Given the description of an element on the screen output the (x, y) to click on. 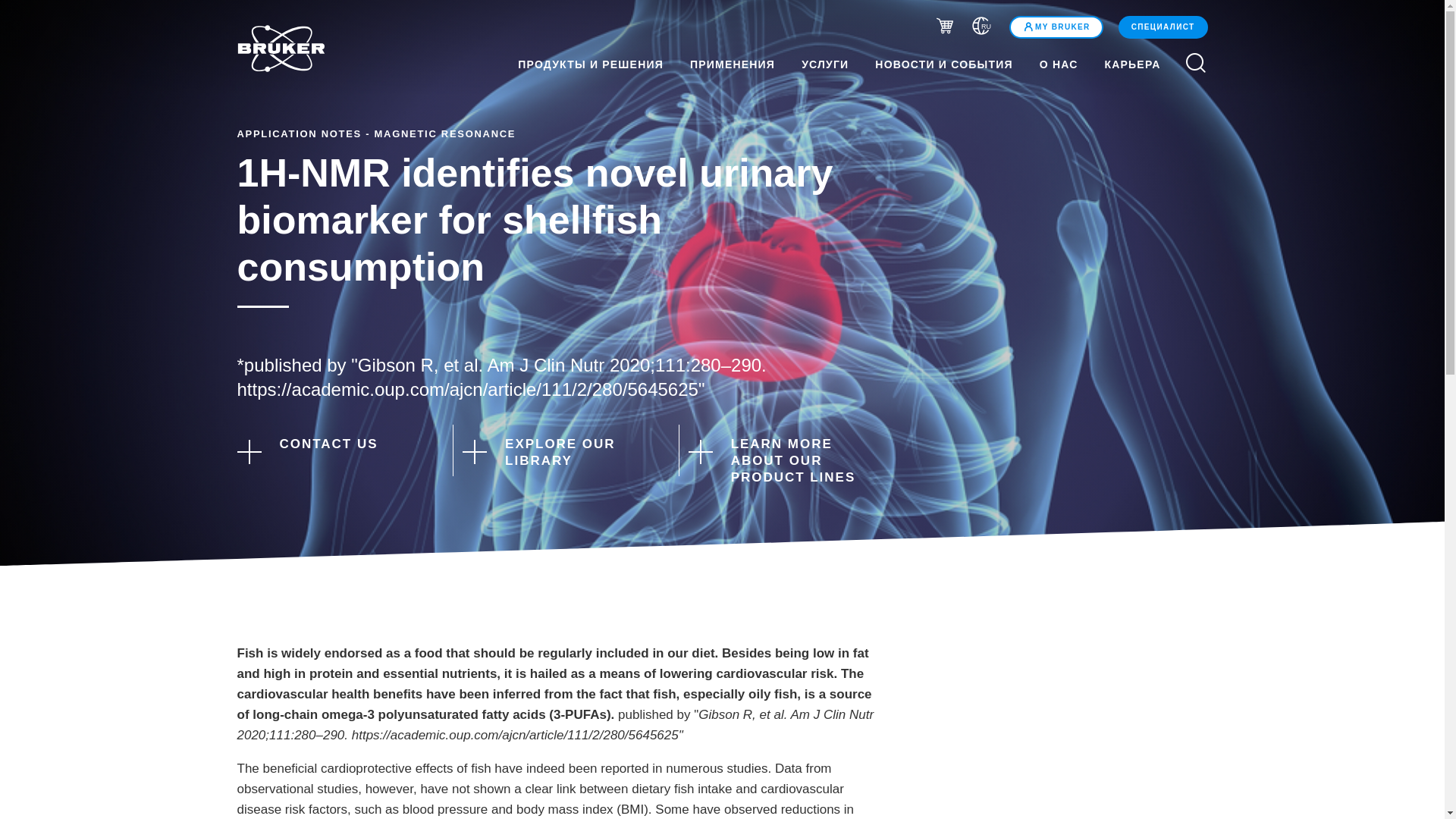
EXPLORE OUR LIBRARY (557, 452)
MY BRUKER (1056, 26)
LEARN MORE ABOUT OUR PRODUCT LINES (782, 460)
CONTACT US (330, 449)
